Given the description of an element on the screen output the (x, y) to click on. 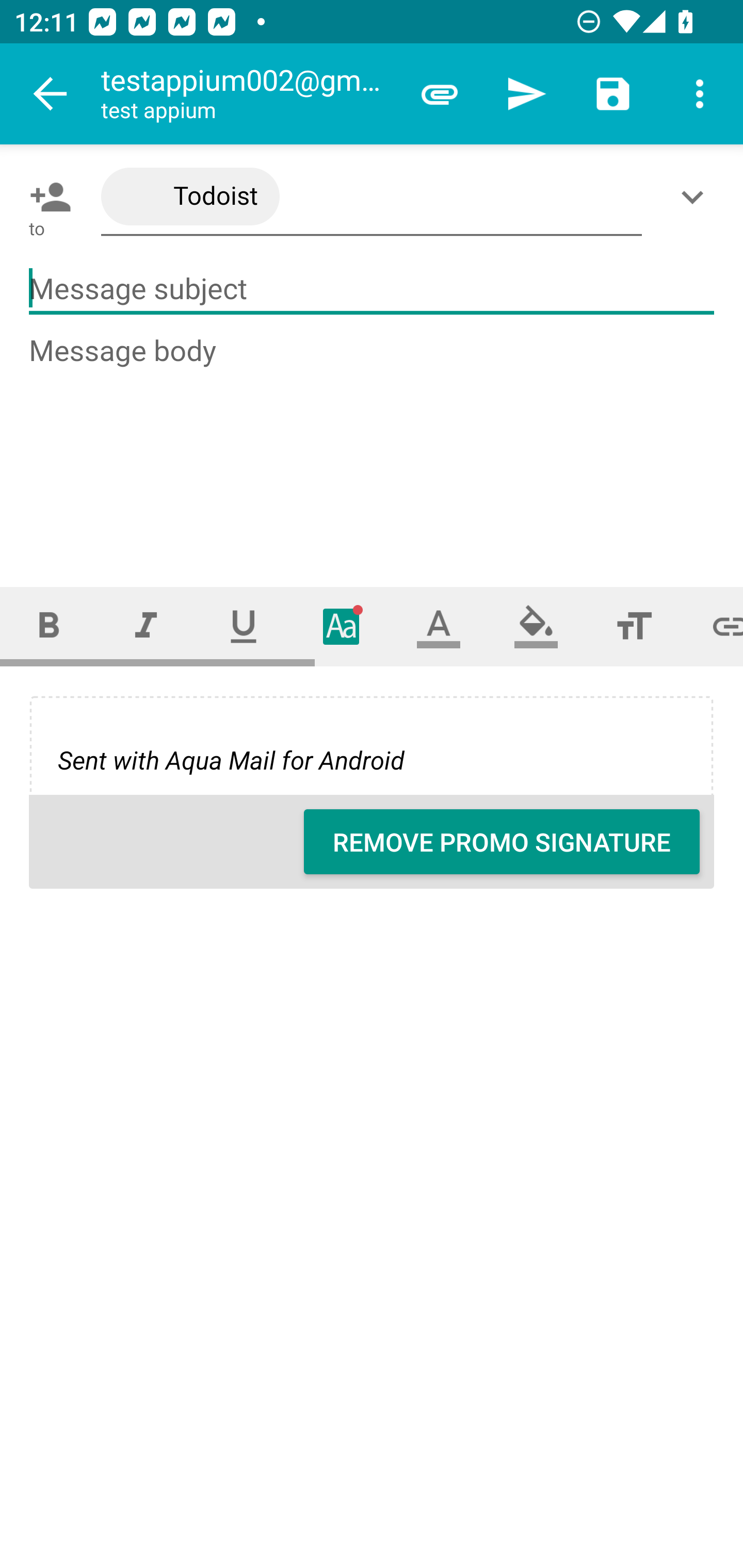
Navigate up (50, 93)
testappium002@gmail.com test appium (248, 93)
Attach (439, 93)
Send (525, 93)
Save (612, 93)
More options (699, 93)
Todoist <no-reply@todoist.com>,  (371, 197)
Pick contact: To (46, 196)
Show/Add CC/BCC (696, 196)
Message subject (371, 288)
Message body (372, 442)
Bold (48, 626)
Italic (145, 626)
Underline (243, 626)
Typeface (font) (341, 626)
Text color (438, 626)
Fill color (536, 626)
Font size (633, 626)
Set link (712, 626)
REMOVE PROMO SIGNATURE (501, 841)
